Given the description of an element on the screen output the (x, y) to click on. 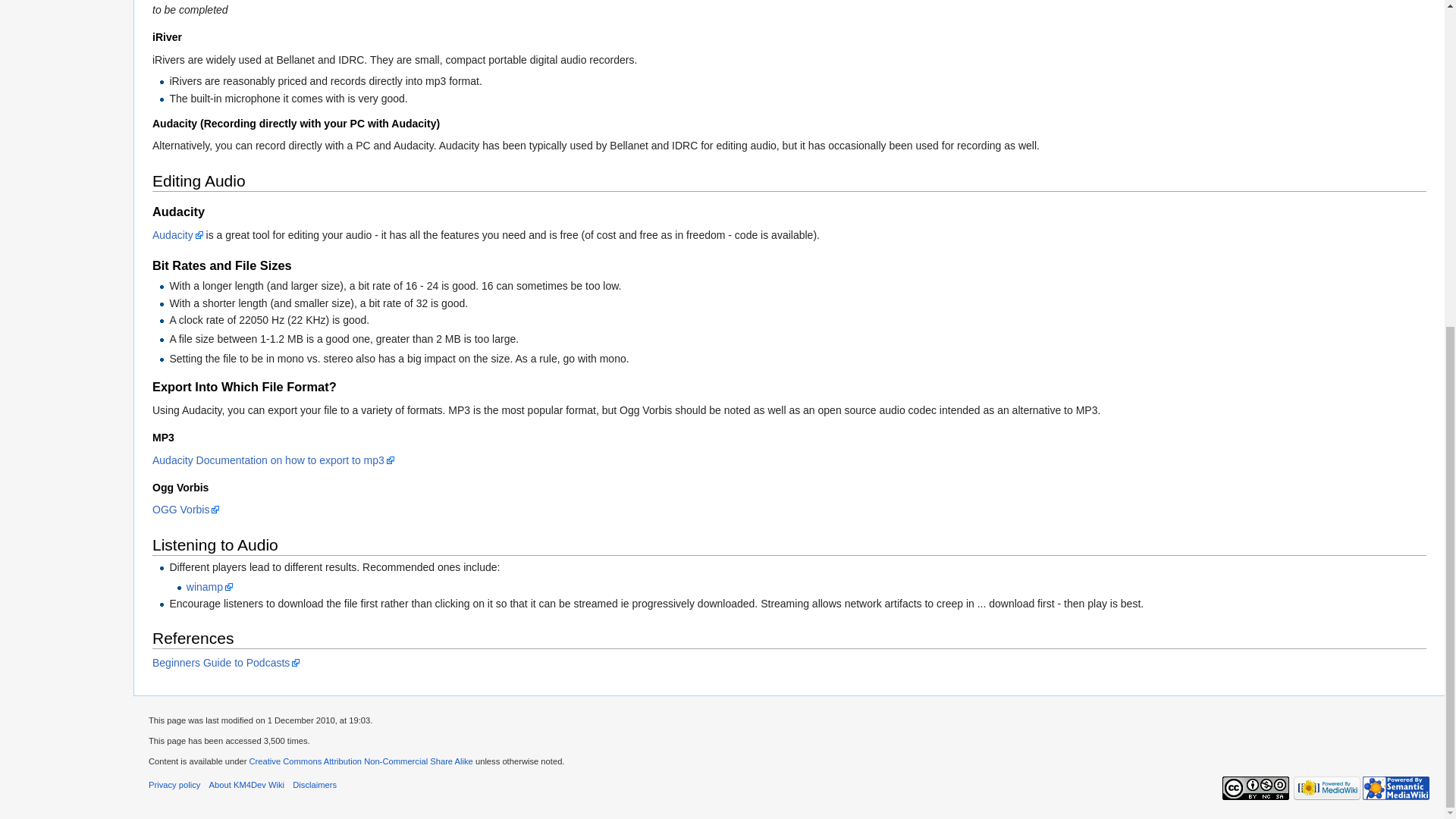
Audacity Documentation on how to export to mp3 (273, 460)
KM4Dev Wiki:Privacy policy (174, 784)
Beginners Guide to Podcasts (225, 662)
KM4Dev Wiki:About (246, 784)
Audacity (177, 234)
winamp (209, 586)
KM4Dev Wiki:General disclaimer (314, 784)
OGG Vorbis (185, 509)
